Given the description of an element on the screen output the (x, y) to click on. 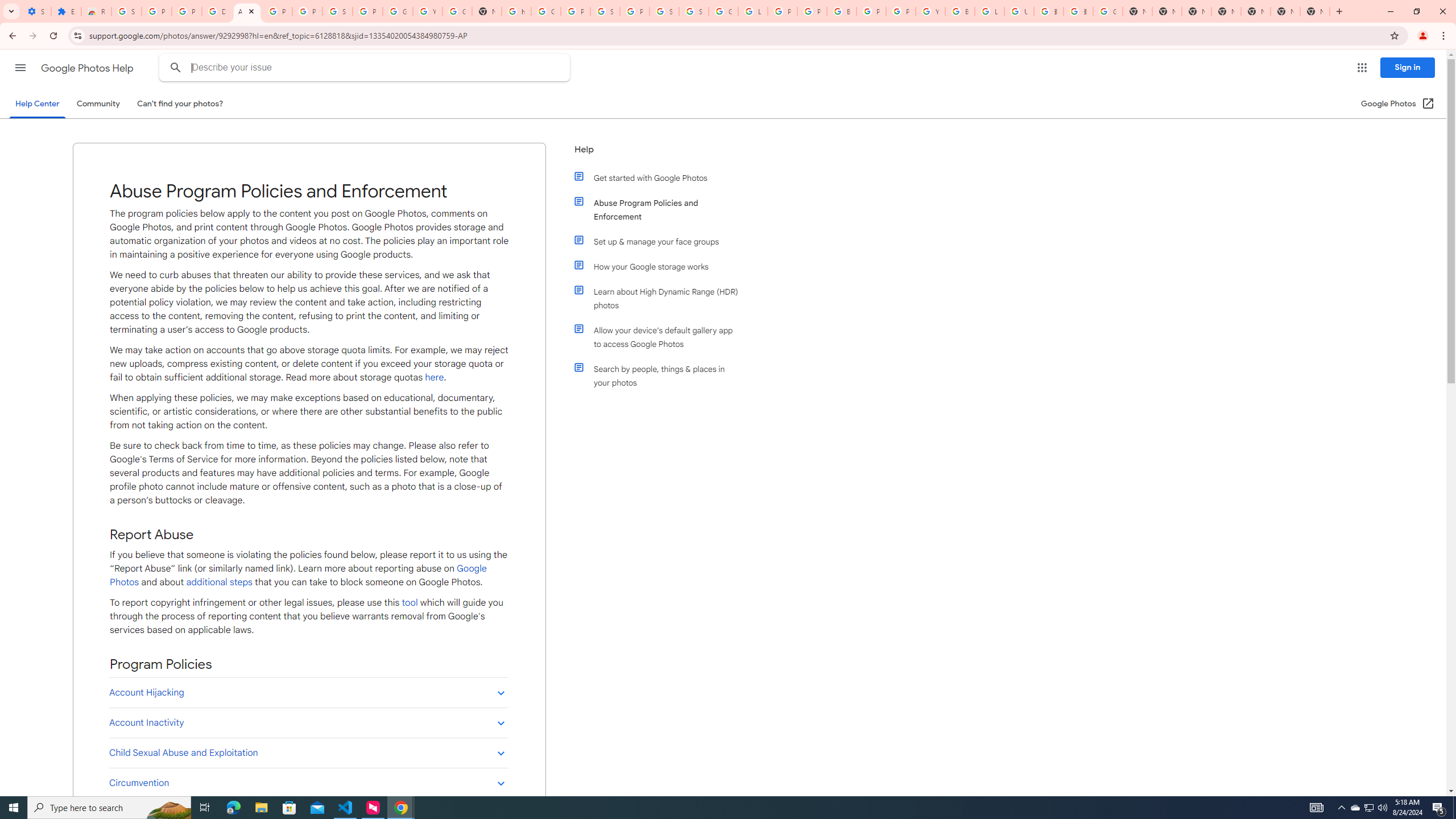
New Tab (1226, 11)
Set up & manage your face groups (661, 241)
Search by people, things & places in your photos (661, 375)
Google Photos Help (87, 68)
Settings - On startup (36, 11)
https://scholar.google.com/ (515, 11)
Google Photos (297, 575)
Privacy Help Center - Policies Help (782, 11)
Help Center (36, 103)
